Given the description of an element on the screen output the (x, y) to click on. 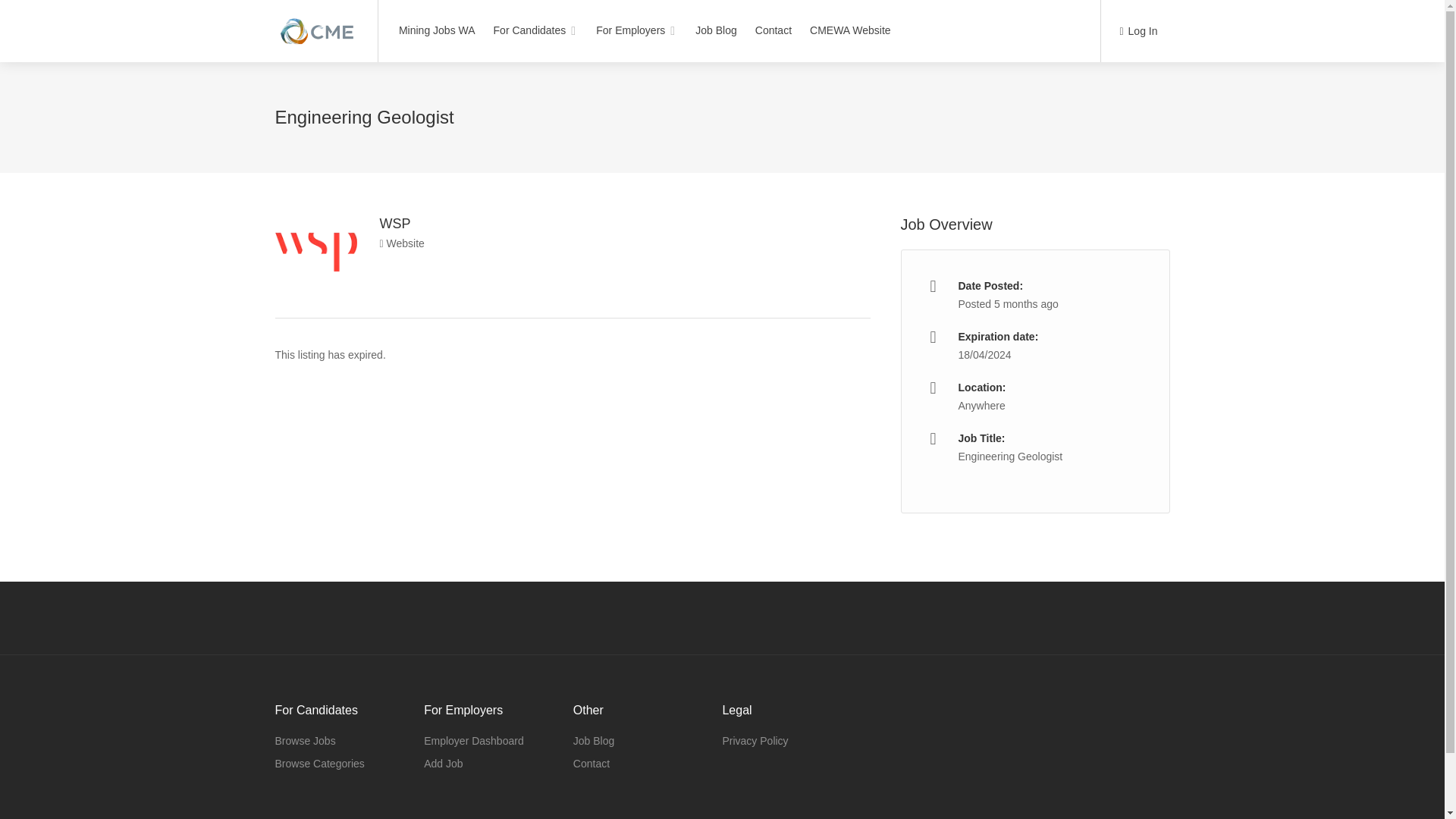
Employer Dashboard (473, 741)
Resource Jobs WA (316, 22)
Browse Jobs (304, 741)
Job Blog (593, 741)
Job Blog (715, 30)
Browse Categories (319, 763)
Add Job (443, 763)
For Candidates (535, 30)
Log In (1138, 31)
WSP (394, 223)
Mining Jobs WA (436, 30)
Website (400, 243)
For Employers (636, 30)
CMEWA Website (850, 30)
Contact (591, 763)
